Given the description of an element on the screen output the (x, y) to click on. 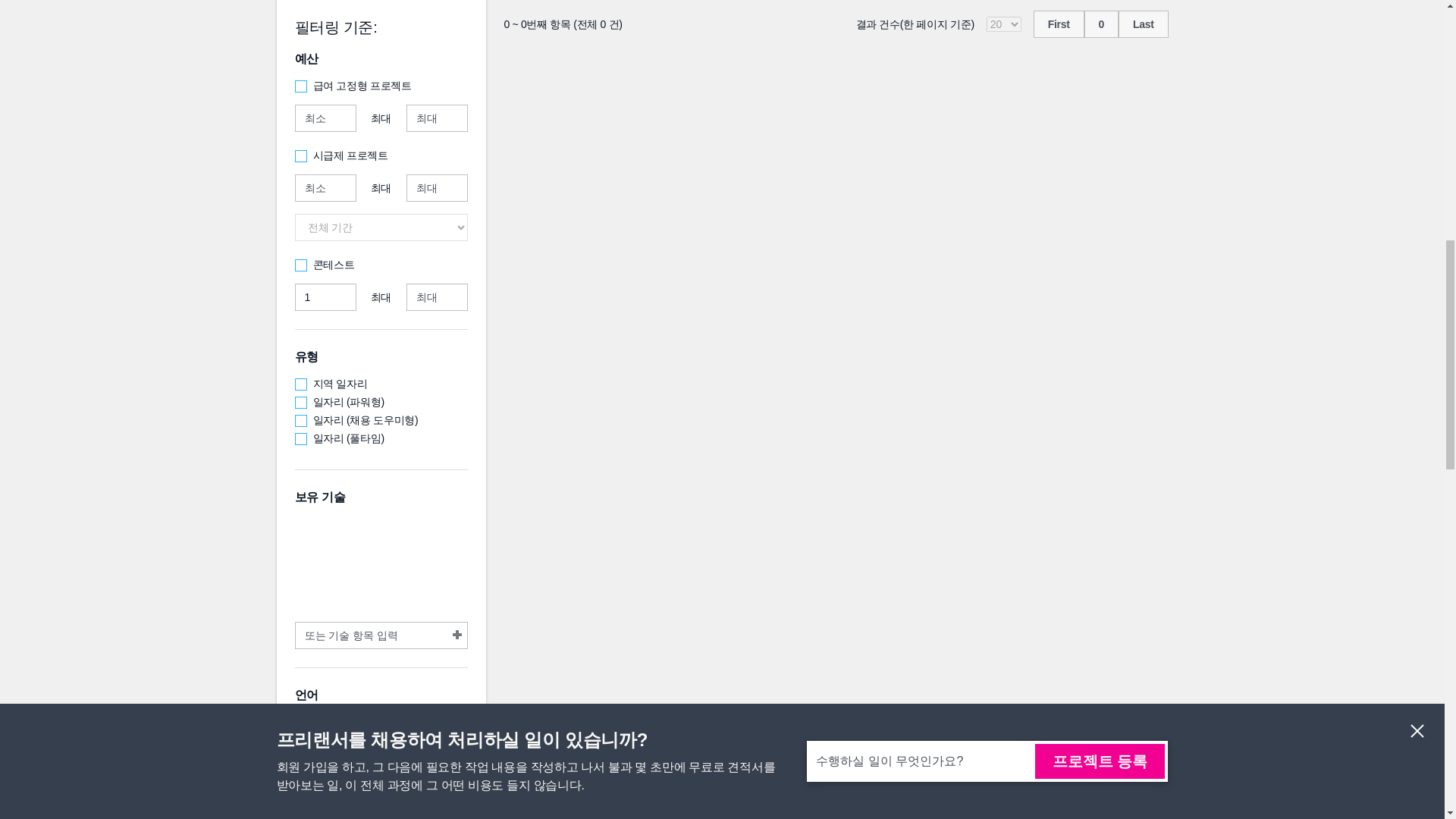
First (1058, 23)
1 (324, 297)
Last (1143, 23)
0 (1101, 23)
